Given the description of an element on the screen output the (x, y) to click on. 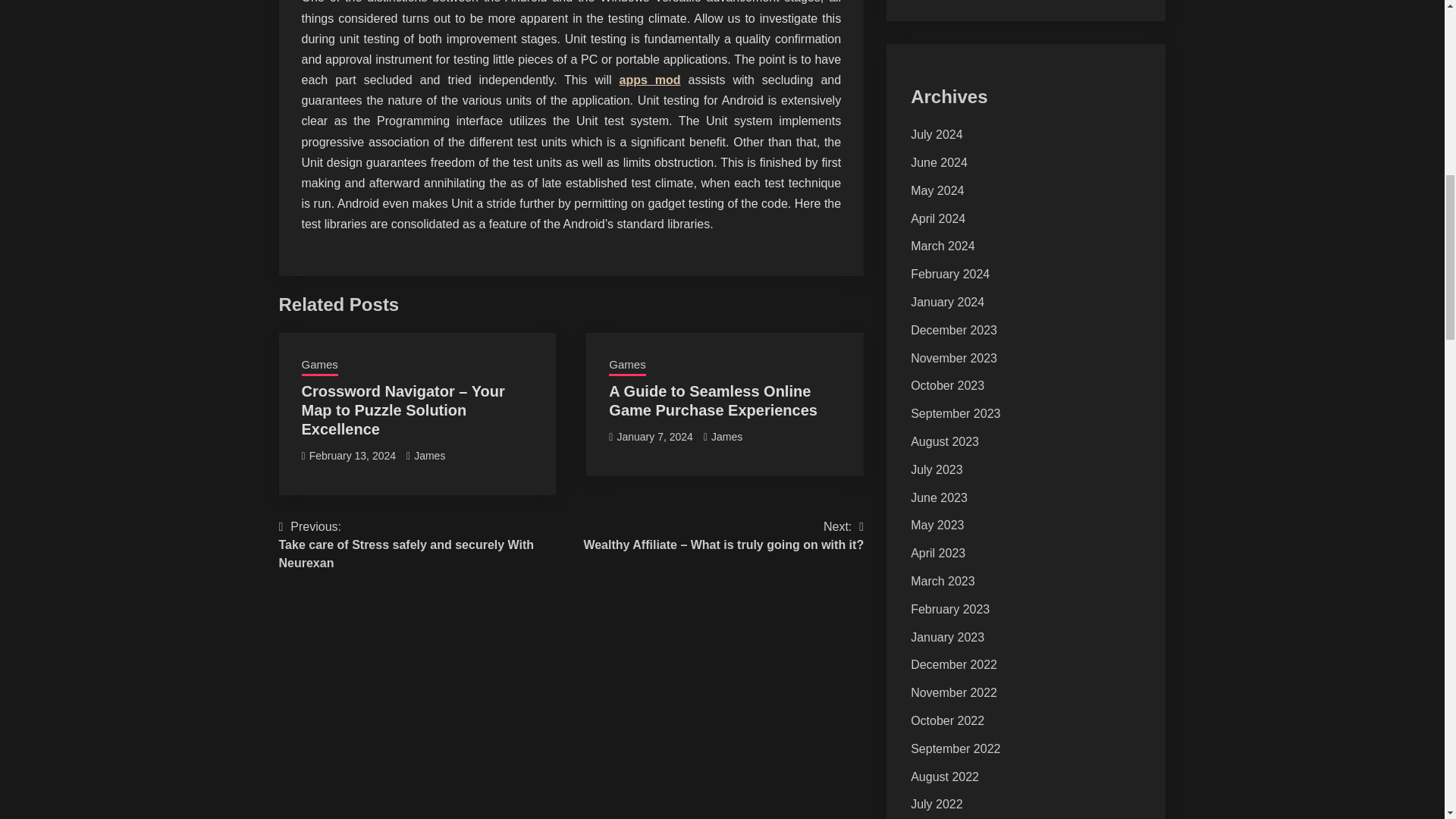
February 13, 2024 (352, 455)
A Guide to Seamless Online Game Purchase Experiences (712, 400)
January 7, 2024 (654, 436)
Games (626, 365)
June 2024 (939, 162)
Games (319, 365)
James (429, 455)
July 2024 (936, 133)
apps mod (648, 79)
James (726, 436)
